Given the description of an element on the screen output the (x, y) to click on. 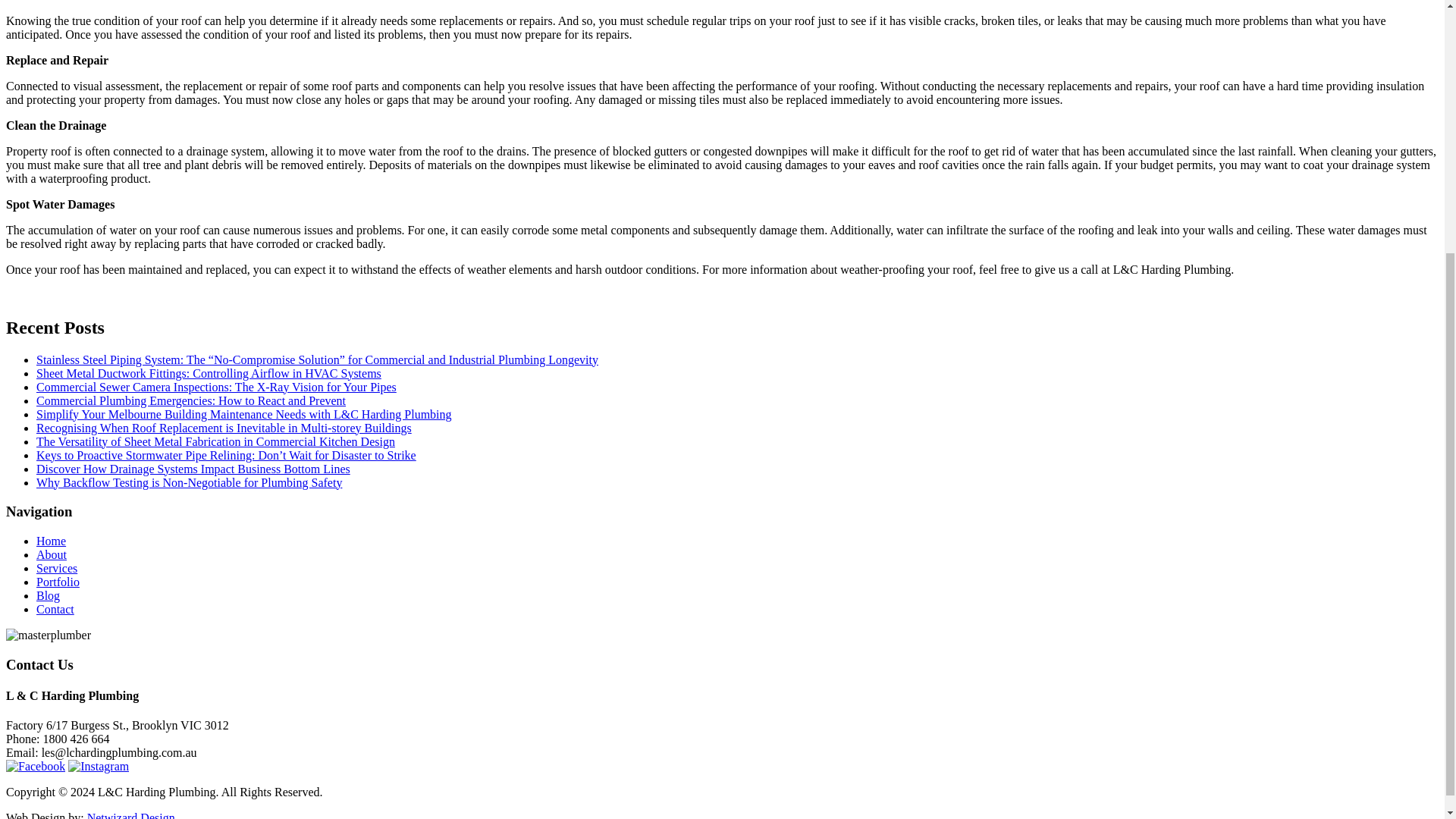
Facebook (35, 766)
Services (56, 567)
Portfolio (58, 581)
Instagram (98, 766)
Blog (47, 594)
Home (50, 540)
Discover How Drainage Systems Impact Business Bottom Lines (193, 468)
Commercial Plumbing Emergencies: How to React and Prevent (191, 400)
Contact (55, 608)
Why Backflow Testing is Non-Negotiable for Plumbing Safety (189, 481)
About (51, 554)
